Given the description of an element on the screen output the (x, y) to click on. 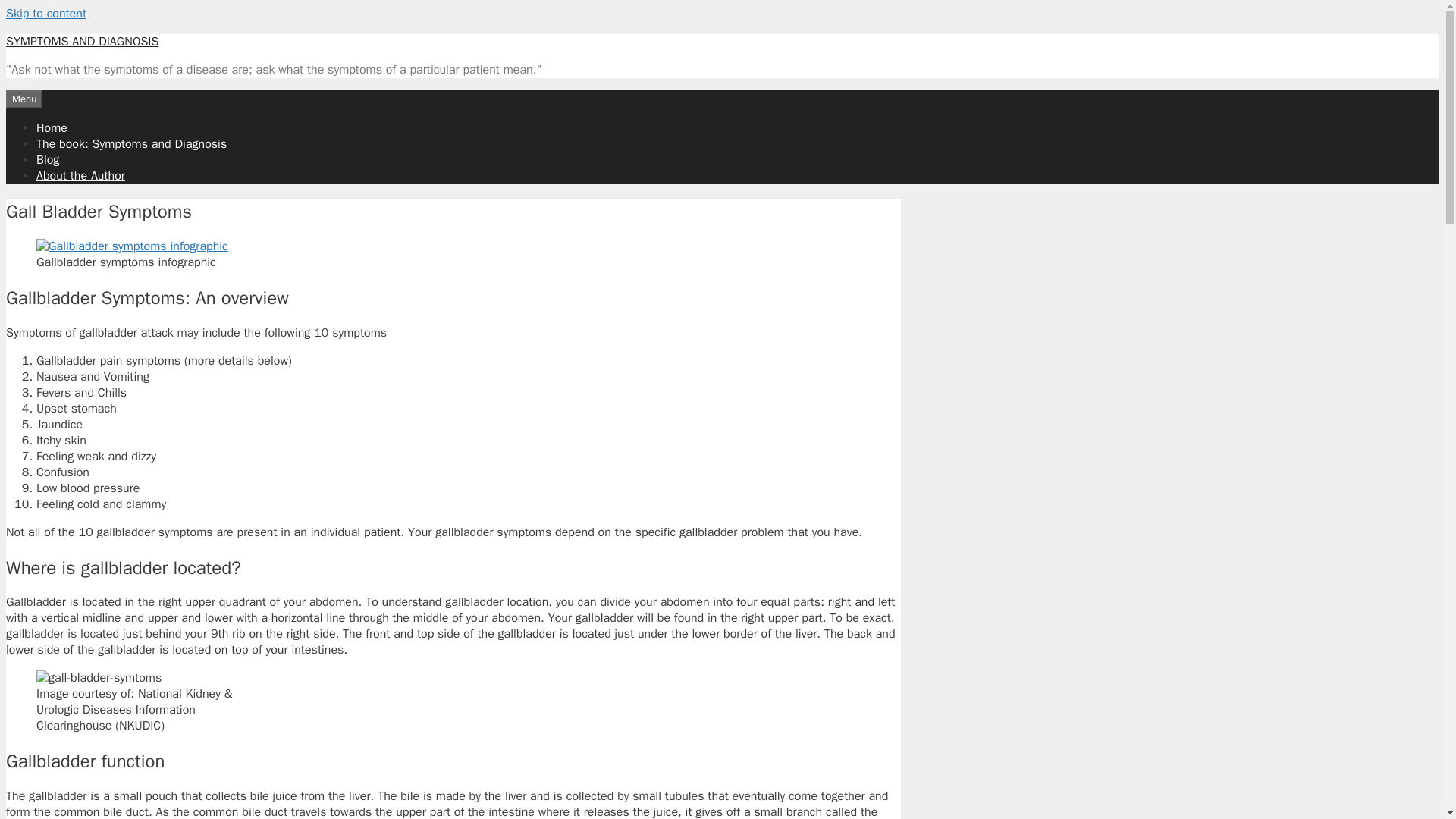
Blog (47, 159)
Home (51, 127)
Gall bladder Symptoms (98, 678)
Menu (23, 99)
Skip to content (45, 13)
About the Author (80, 175)
The book: Symptoms and Diagnosis (131, 143)
Skip to content (45, 13)
SYMPTOMS AND DIAGNOSIS (81, 41)
